Given the description of an element on the screen output the (x, y) to click on. 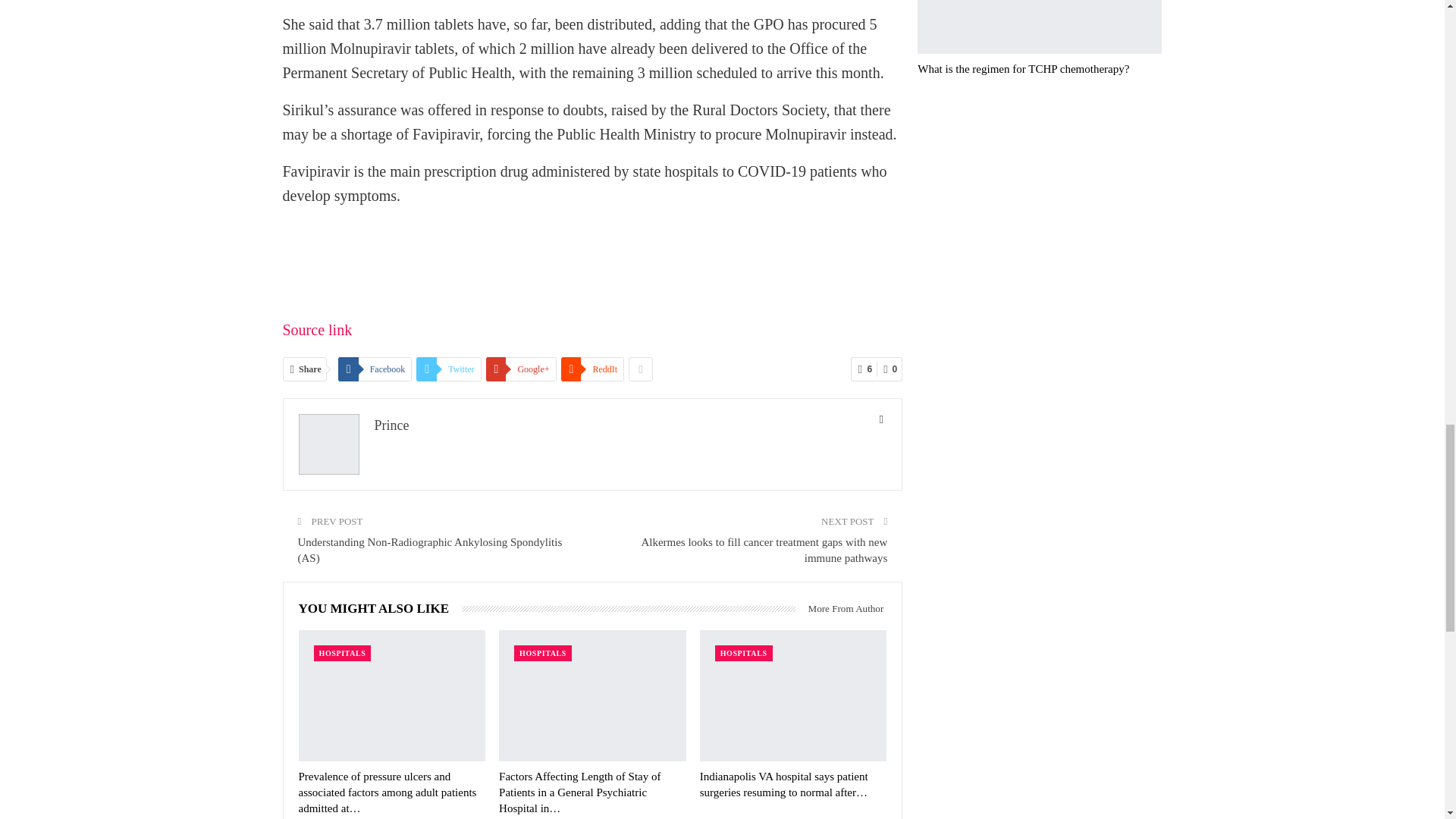
Twitter (448, 369)
Facebook (374, 369)
0 (889, 369)
ReddIt (592, 369)
Source link (317, 329)
Prince (391, 425)
